Given the description of an element on the screen output the (x, y) to click on. 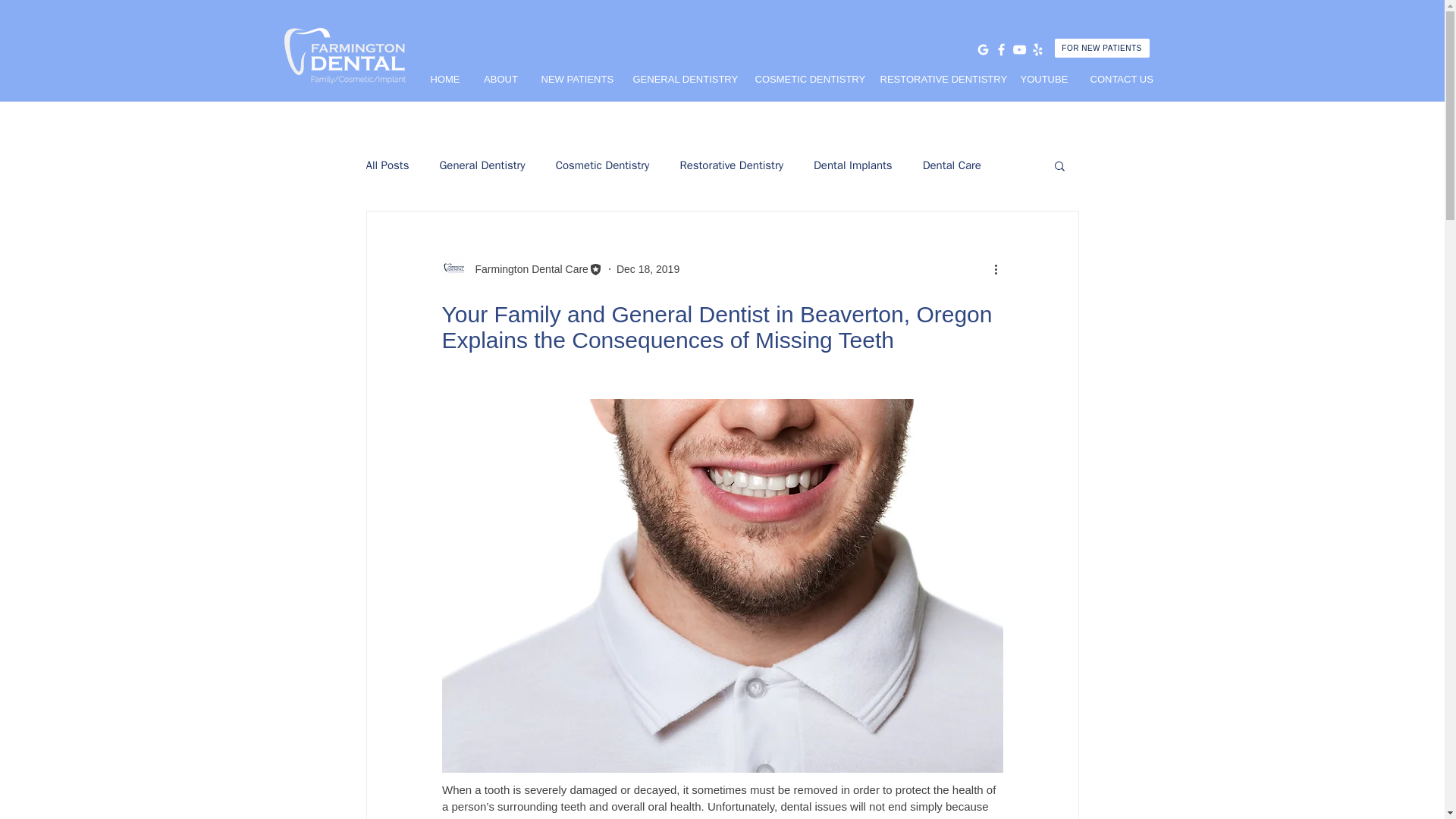
HOME (445, 79)
NEW PATIENTS (575, 79)
FOR NEW PATIENTS (1101, 47)
Farmington Dental Care (526, 268)
Dec 18, 2019 (647, 268)
